Given the description of an element on the screen output the (x, y) to click on. 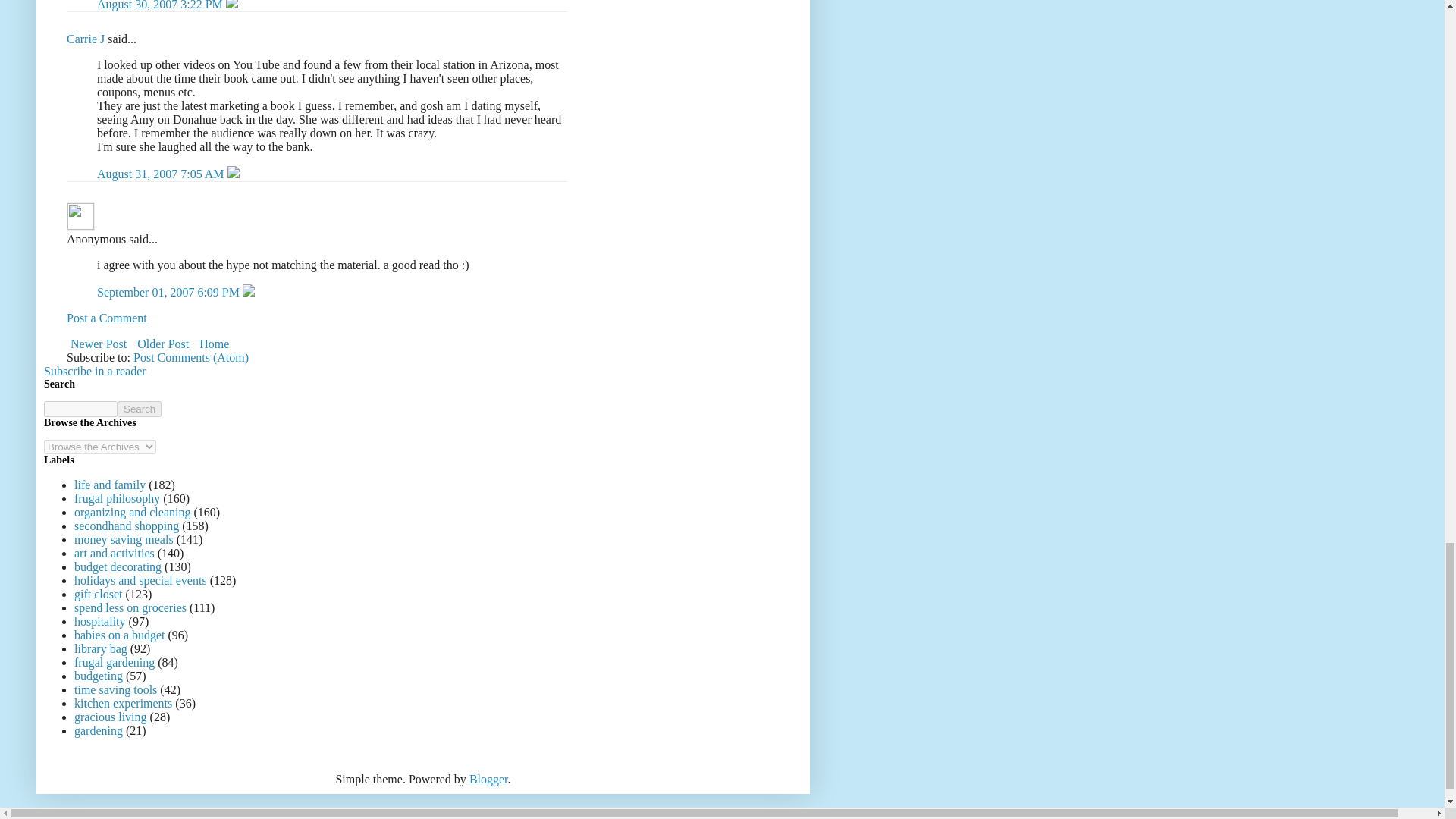
Search (139, 408)
August 30, 2007 3:22 PM (161, 5)
Search (139, 408)
